Given the description of an element on the screen output the (x, y) to click on. 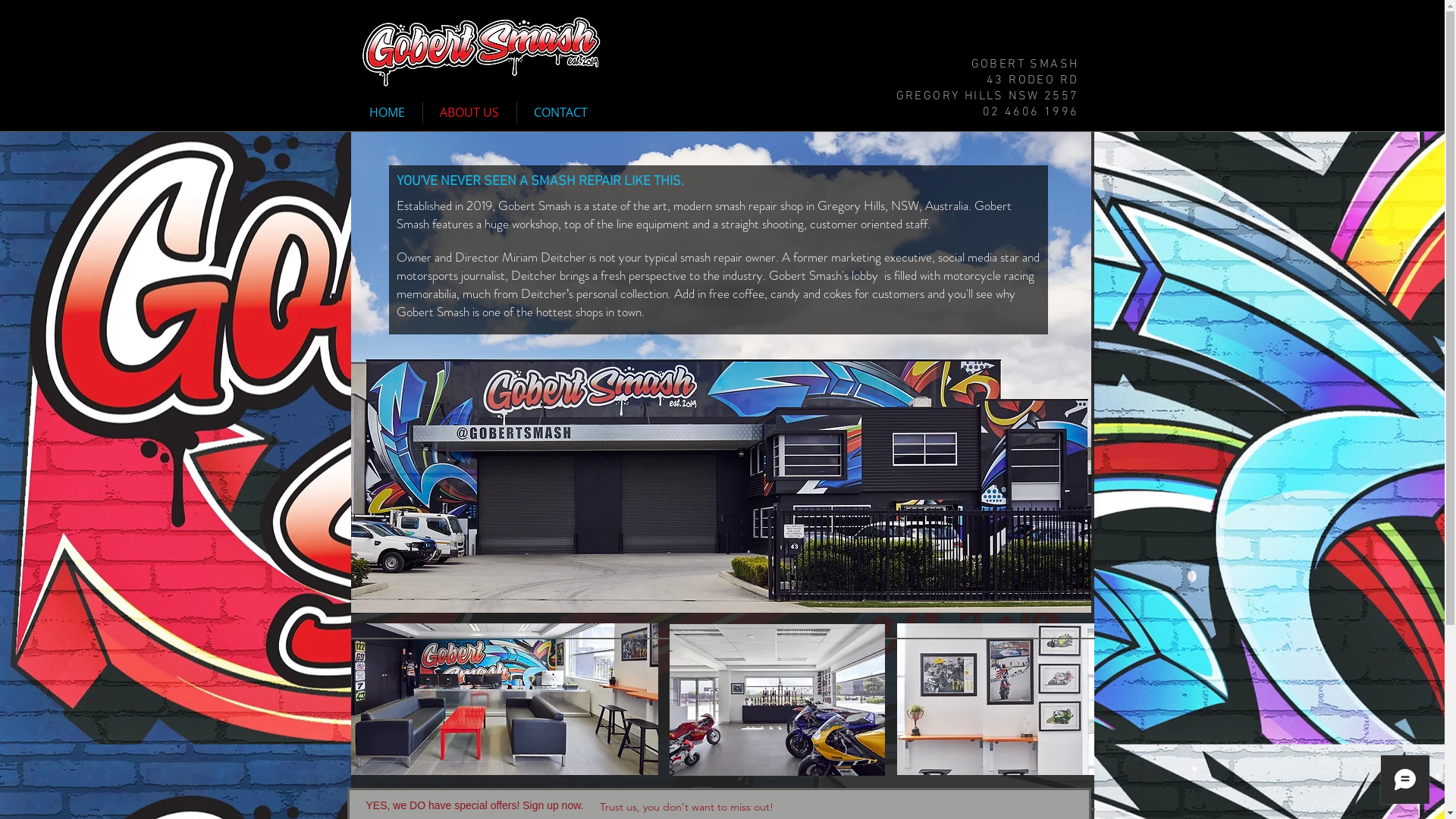
HOME Element type: text (386, 112)
CONTACT Element type: text (561, 112)
ABOUT US Element type: text (469, 112)
